Given the description of an element on the screen output the (x, y) to click on. 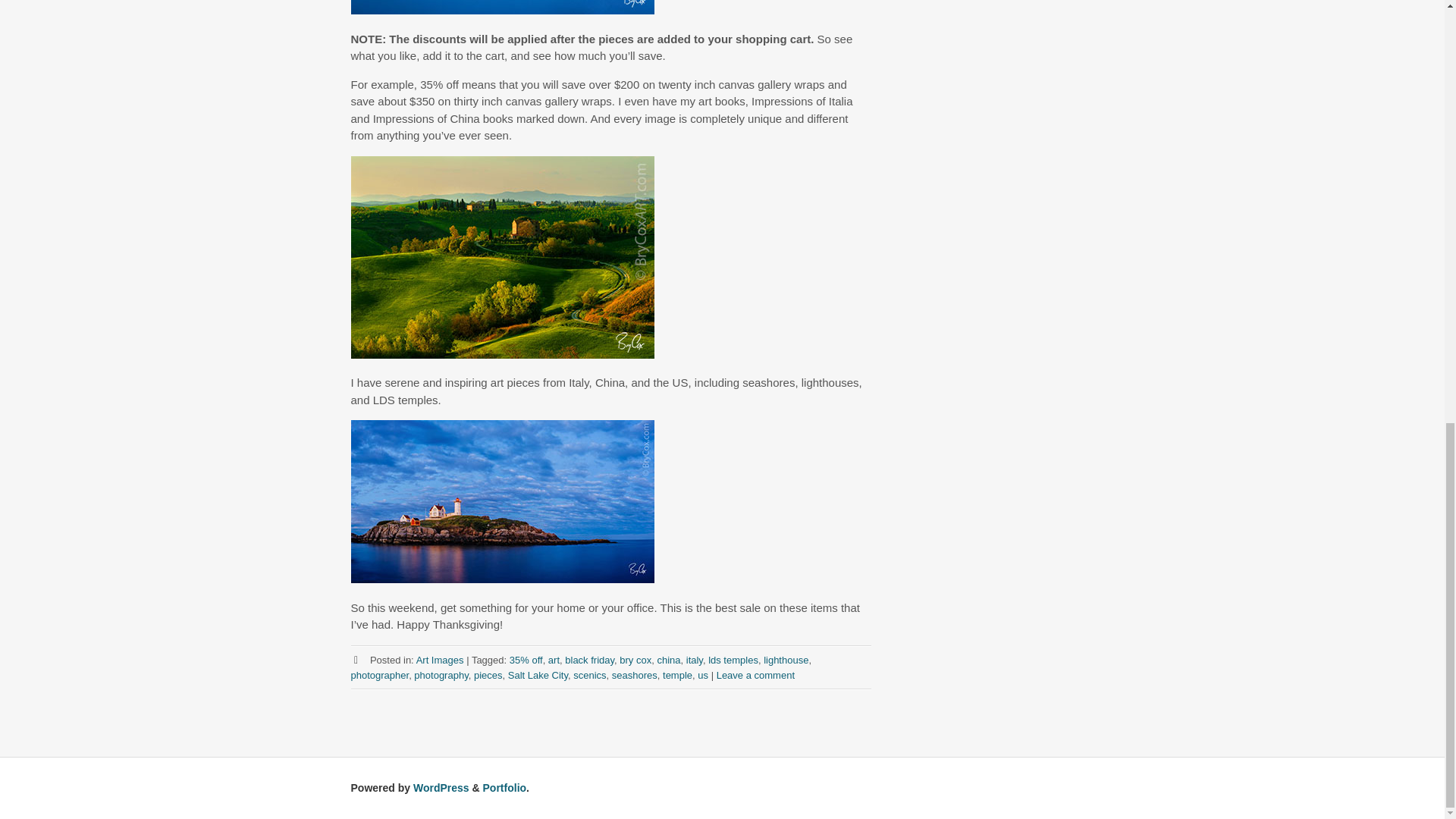
black friday (589, 659)
BryCoxART.com (501, 578)
Salt Lake City (537, 674)
china (667, 659)
Art Images (440, 659)
photographer (379, 674)
BryCoxART.com (501, 353)
BryCoxART.com (501, 10)
Meandering Through Tuscany, Italy by Bry Cox (501, 257)
Serene Dock Home at Twilight (501, 7)
